Given the description of an element on the screen output the (x, y) to click on. 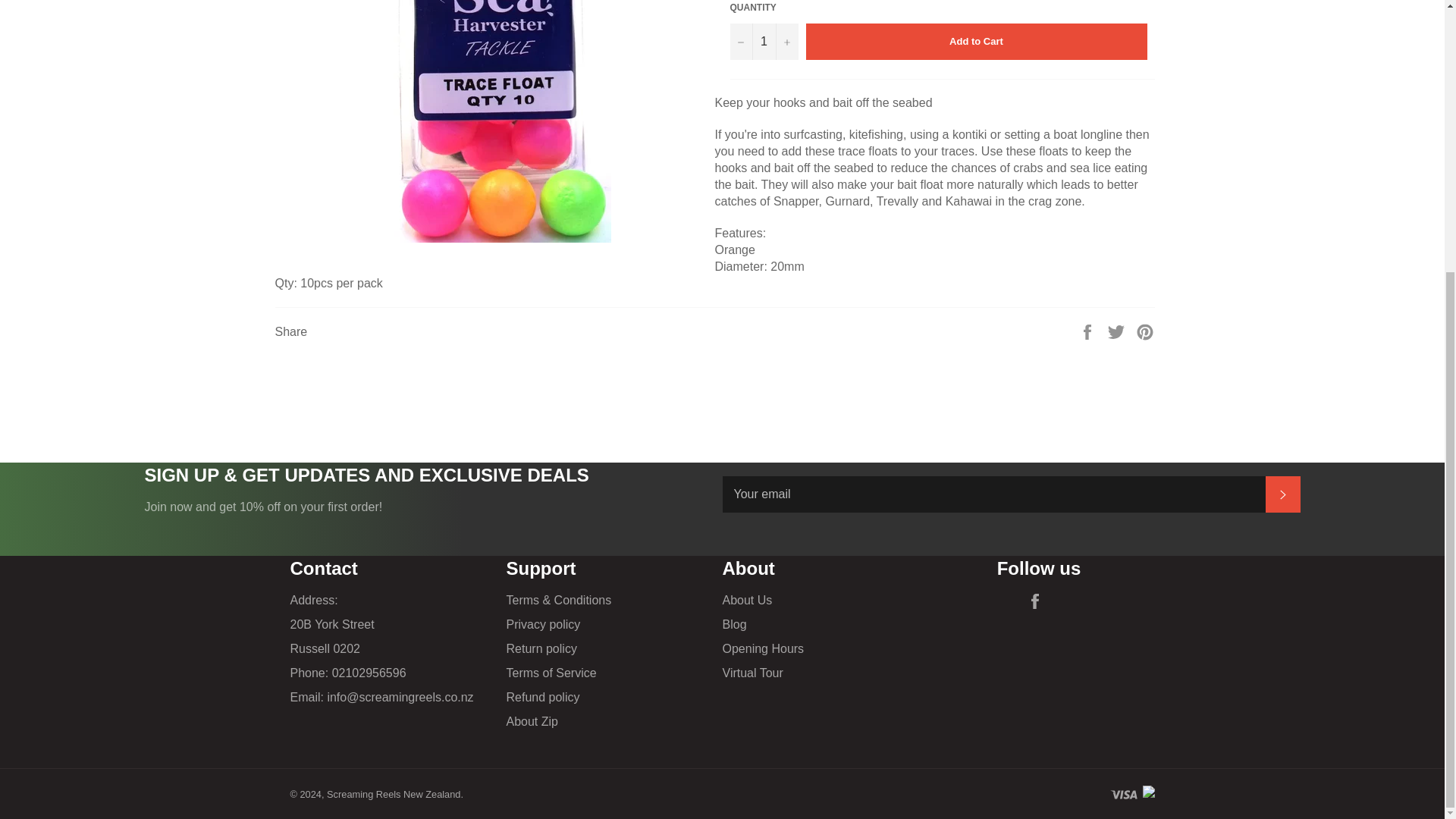
Pin on Pinterest (1144, 331)
Screaming Reels New Zealand on Facebook (1038, 601)
Tweet on Twitter (1117, 331)
1 (763, 41)
Share on Facebook (1088, 331)
